Given the description of an element on the screen output the (x, y) to click on. 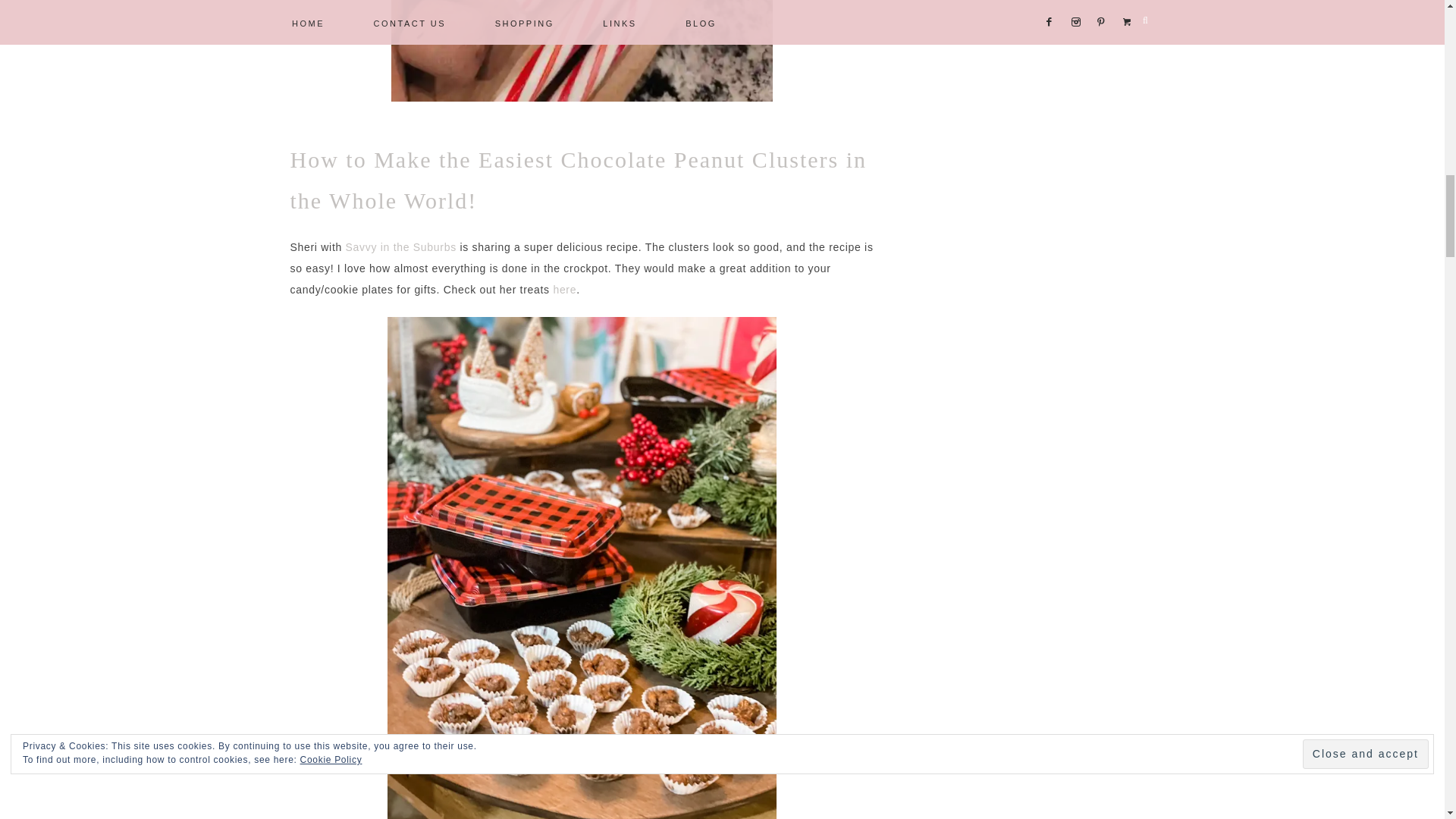
Savvy in the Suburbs (399, 246)
here (564, 289)
